Given the description of an element on the screen output the (x, y) to click on. 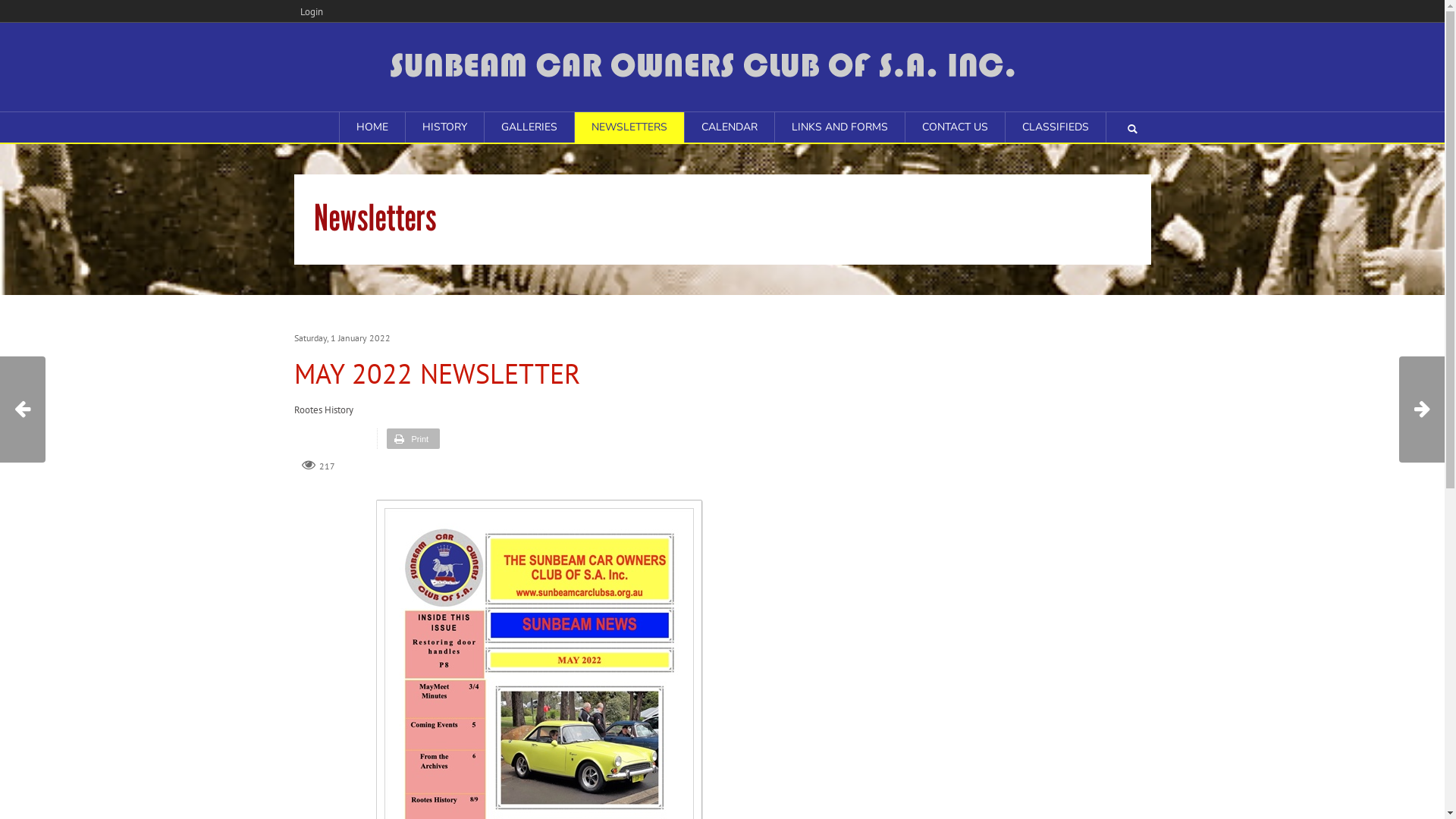
LINKS AND FORMS Element type: text (839, 127)
Sunbeam Car Club of SA Element type: hover (722, 64)
GALLERIES Element type: text (528, 127)
CONTACT US Element type: text (954, 127)
CLASSIFIEDS Element type: text (1055, 127)
NEWSLETTERS Element type: text (629, 127)
CALENDAR Element type: text (728, 127)
Login Element type: text (311, 10)
HISTORY Element type: text (443, 127)
HOME Element type: text (371, 127)
